Given the description of an element on the screen output the (x, y) to click on. 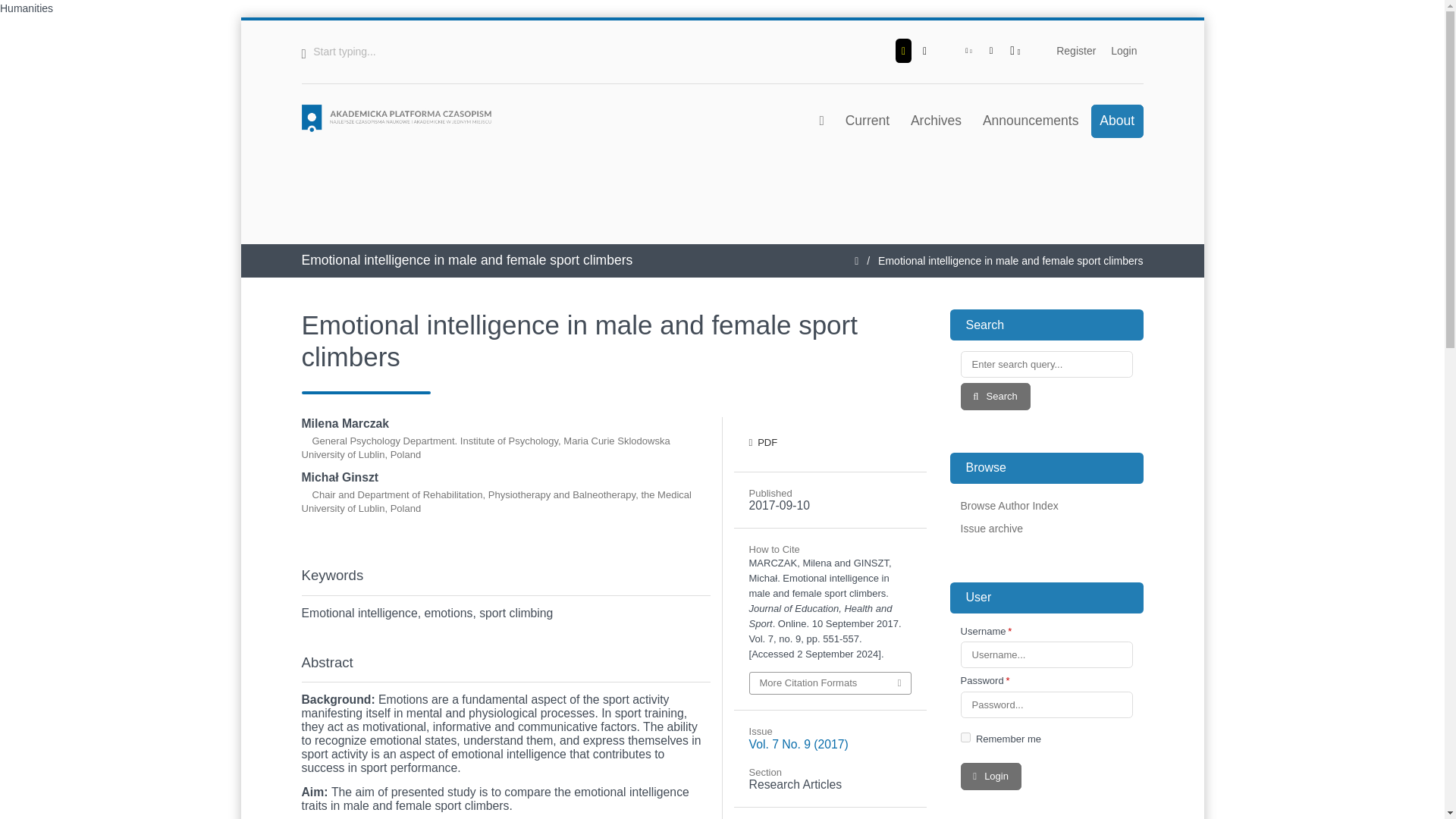
Archives (935, 121)
1 (964, 737)
Home (396, 117)
Journal of Education, Health and Sport (722, 201)
More Citation Formats (830, 682)
Skip to main content (722, 21)
Register (1075, 50)
Current (866, 121)
Announcements (1030, 121)
Increase font size (1015, 50)
